Given the description of an element on the screen output the (x, y) to click on. 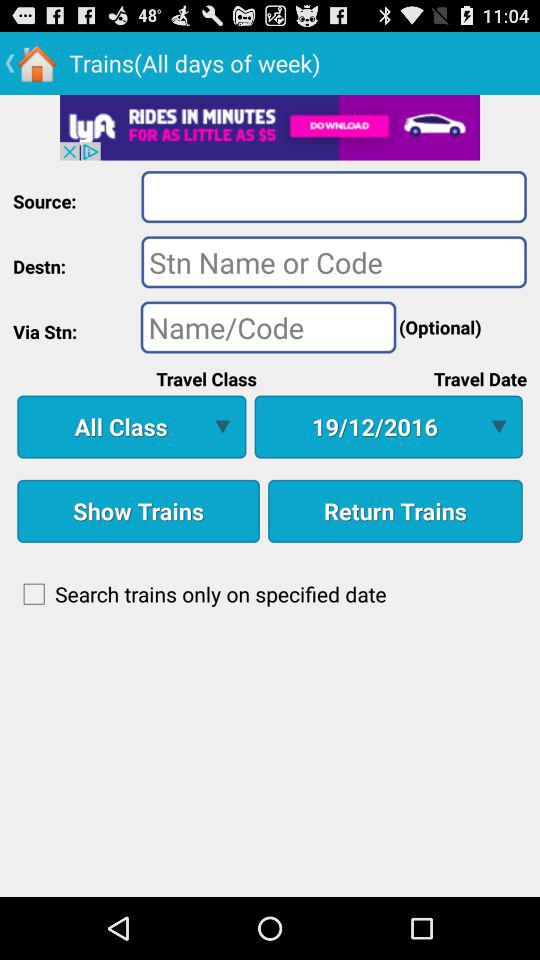
enter source text box (333, 196)
